Given the description of an element on the screen output the (x, y) to click on. 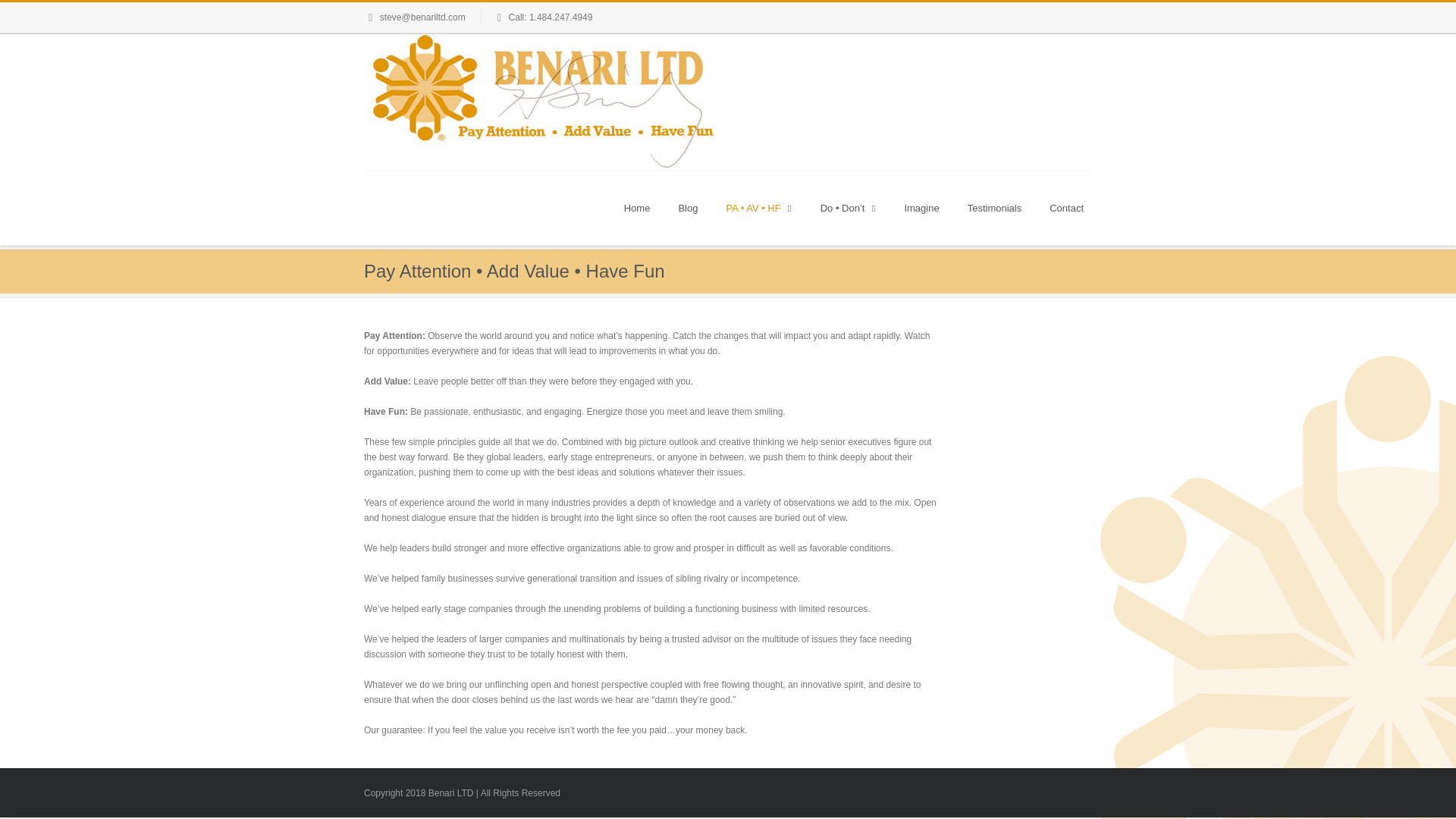
BenariLTD (541, 102)
Blog (686, 207)
Home (636, 207)
Contact (1066, 207)
Testimonials (994, 207)
Imagine (921, 207)
